Given the description of an element on the screen output the (x, y) to click on. 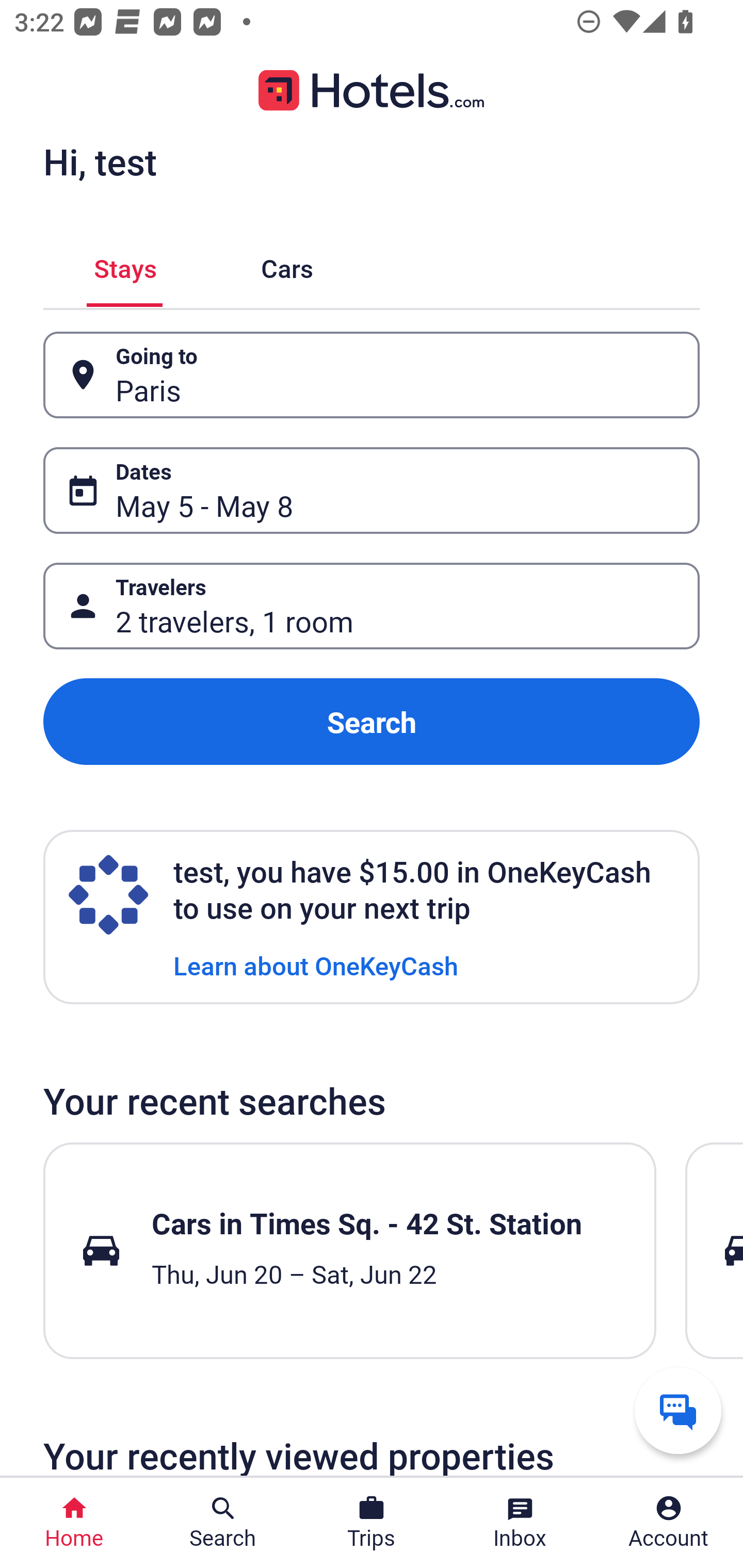
Hi, test (99, 161)
Cars (286, 265)
Going to Button Paris (371, 375)
Dates Button May 5 - May 8 (371, 489)
Travelers Button 2 travelers, 1 room (371, 605)
Search (371, 721)
Learn about OneKeyCash Learn about OneKeyCash Link (315, 964)
Get help from a virtual agent (677, 1410)
Search Search Button (222, 1522)
Trips Trips Button (371, 1522)
Inbox Inbox Button (519, 1522)
Account Profile. Button (668, 1522)
